Given the description of an element on the screen output the (x, y) to click on. 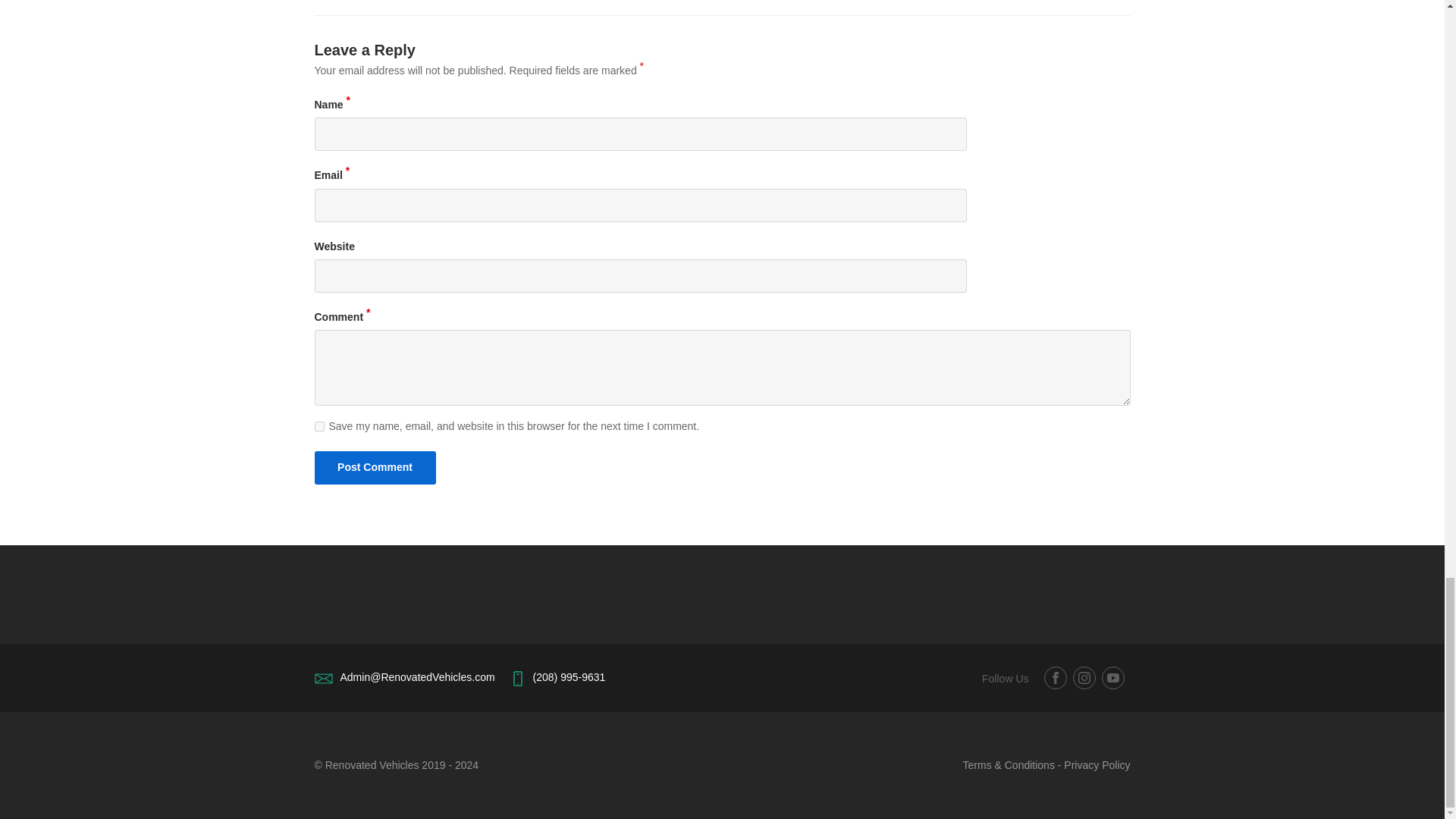
Post Comment (374, 467)
facebook (1054, 677)
Post Comment (374, 467)
instagram (1082, 677)
Privacy Policy (1096, 765)
yes (318, 426)
youtube (1112, 677)
